Given the description of an element on the screen output the (x, y) to click on. 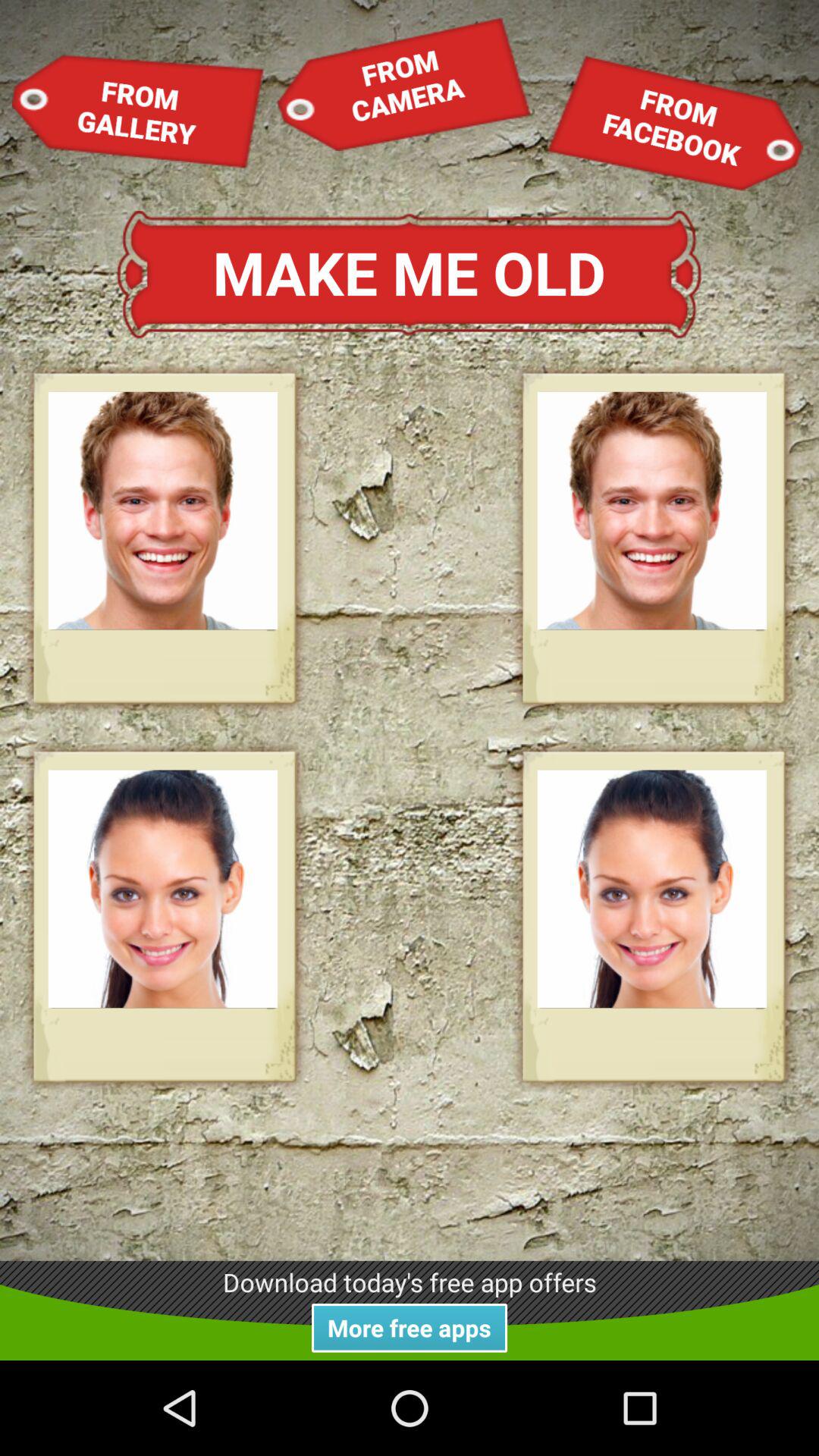
launch the item next to from
facebook (403, 83)
